Given the description of an element on the screen output the (x, y) to click on. 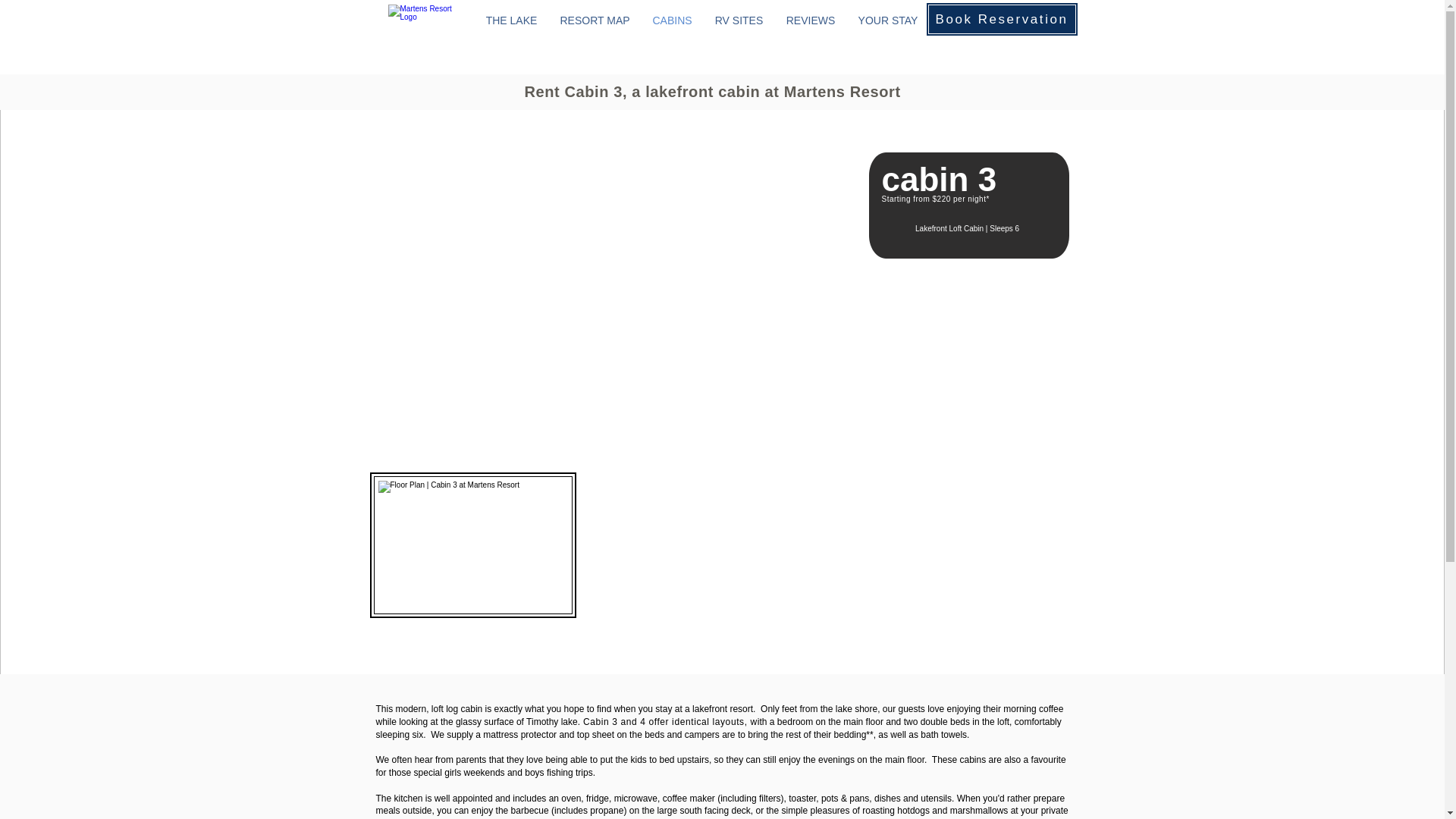
Book Reservation (1000, 19)
THE LAKE (511, 20)
RV SITES (738, 20)
REVIEWS (810, 20)
CABINS (672, 20)
RESORT MAP (595, 20)
